Given the description of an element on the screen output the (x, y) to click on. 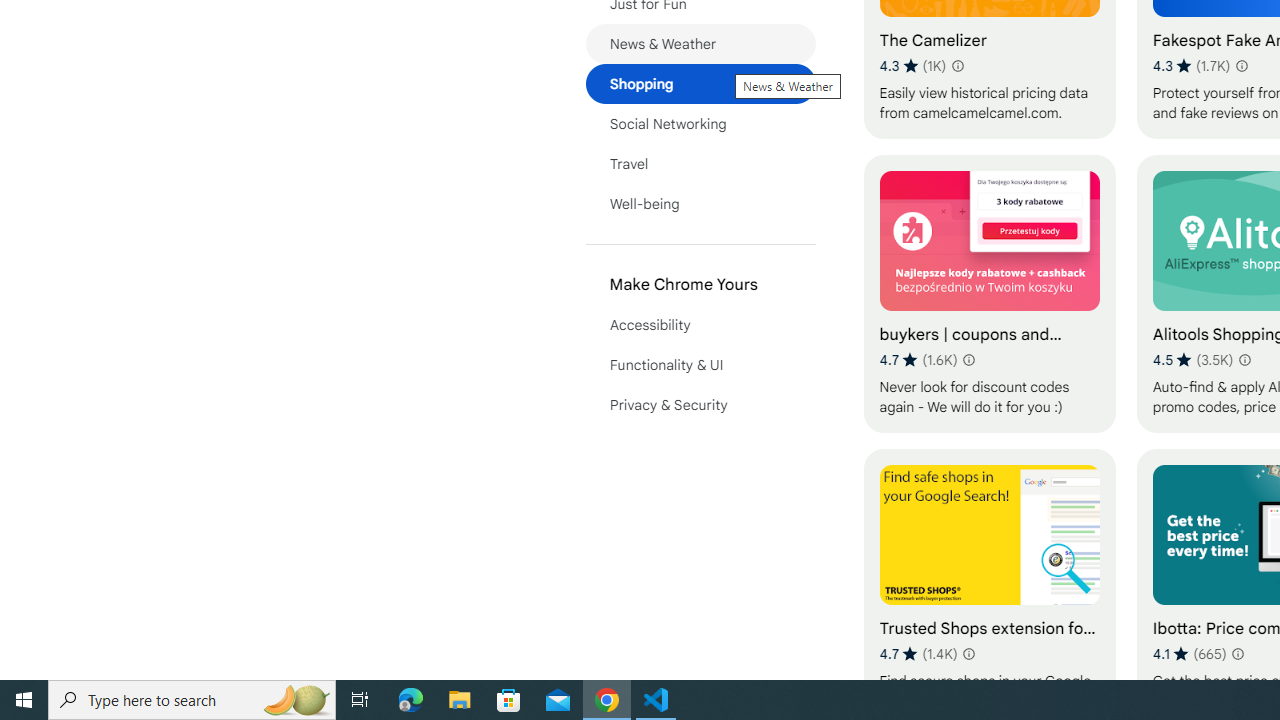
buykers | coupons and discount codes (989, 293)
Travel (700, 164)
